Given the description of an element on the screen output the (x, y) to click on. 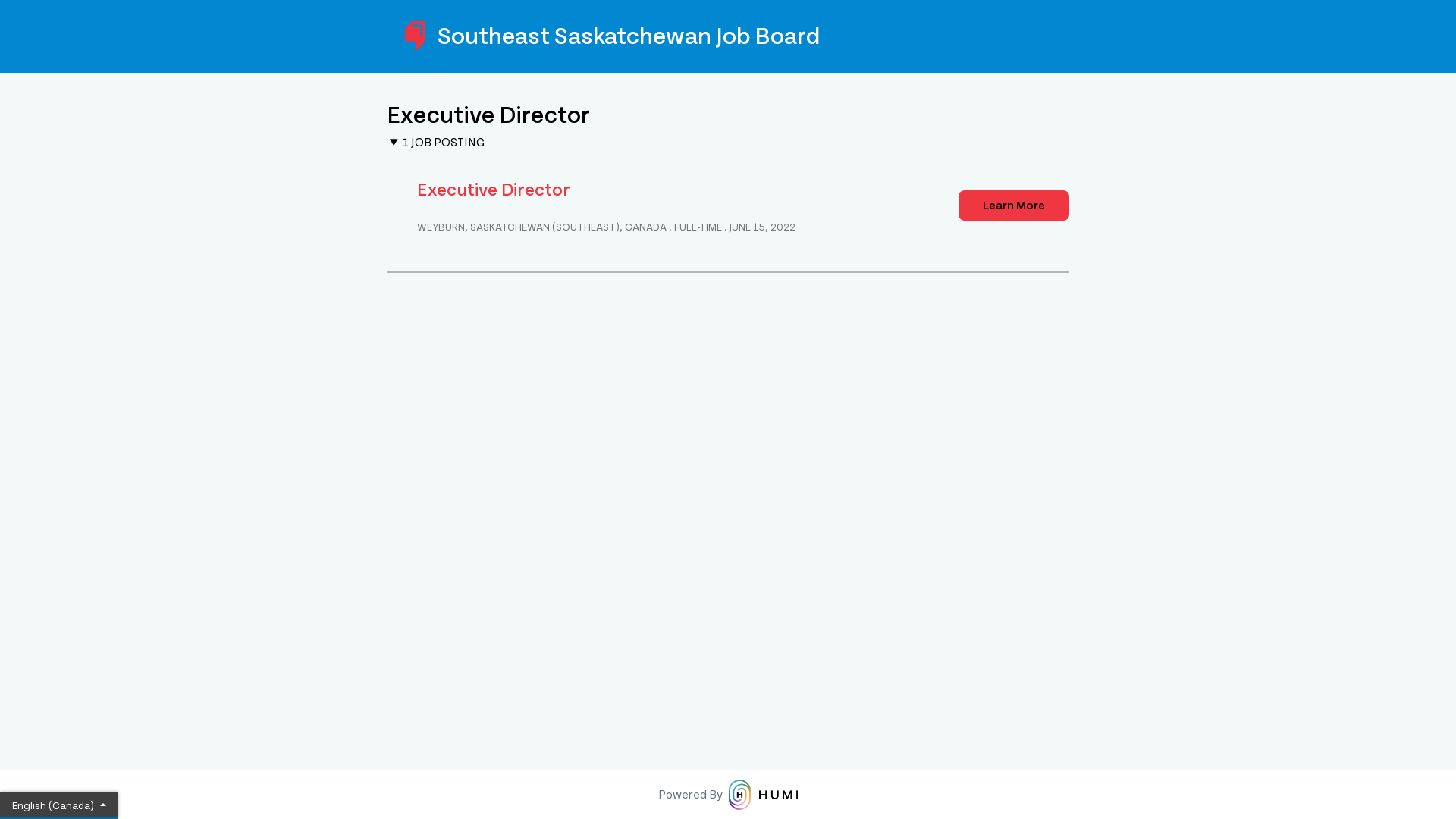
Executive Director Element type: text (493, 189)
Powered By Element type: text (727, 794)
Learn More Element type: text (1013, 205)
Southeast Saskatchewan Job Board Element type: text (727, 36)
